Given the description of an element on the screen output the (x, y) to click on. 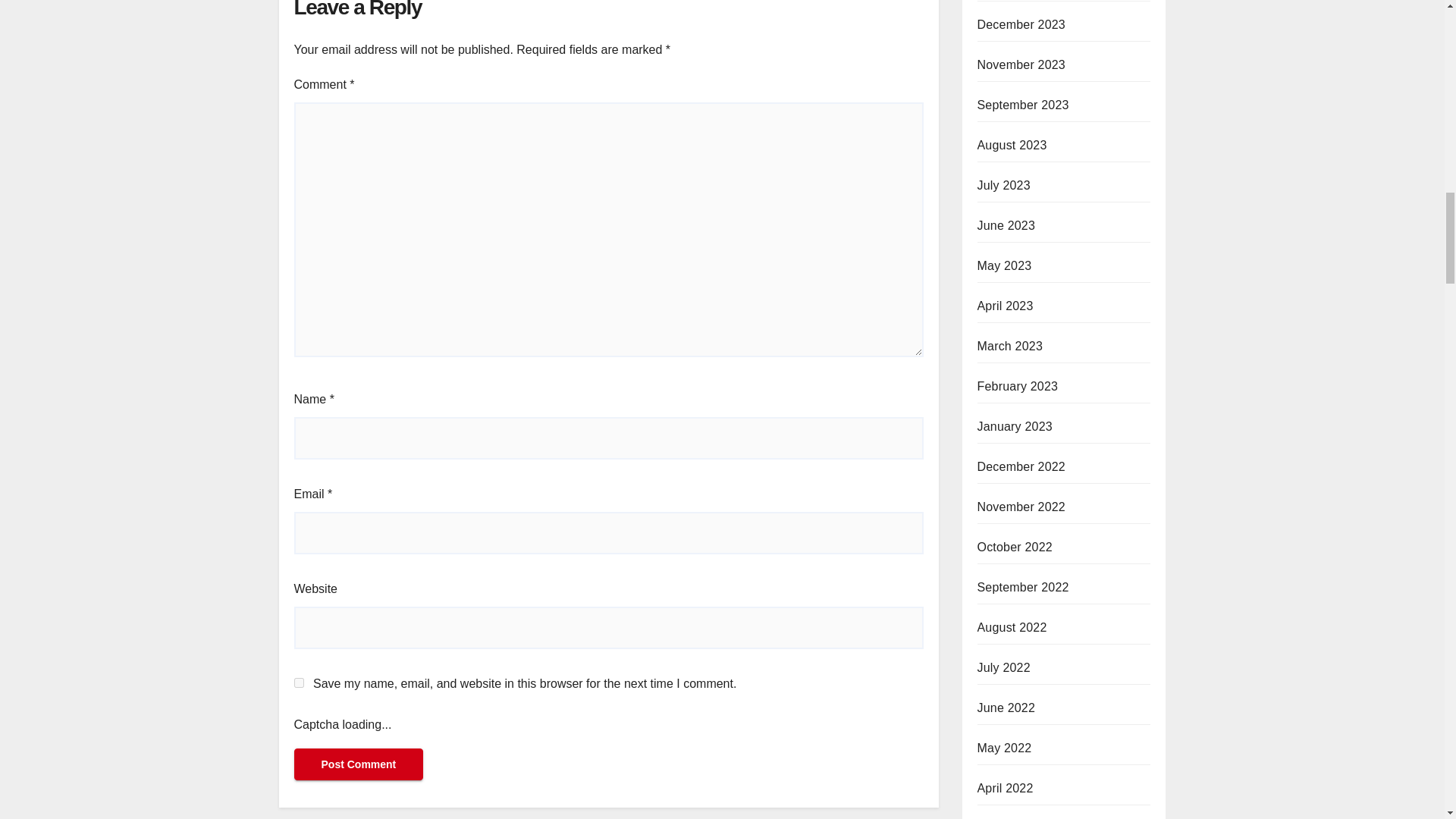
Post Comment (358, 764)
Post Comment (358, 764)
yes (299, 682)
